Given the description of an element on the screen output the (x, y) to click on. 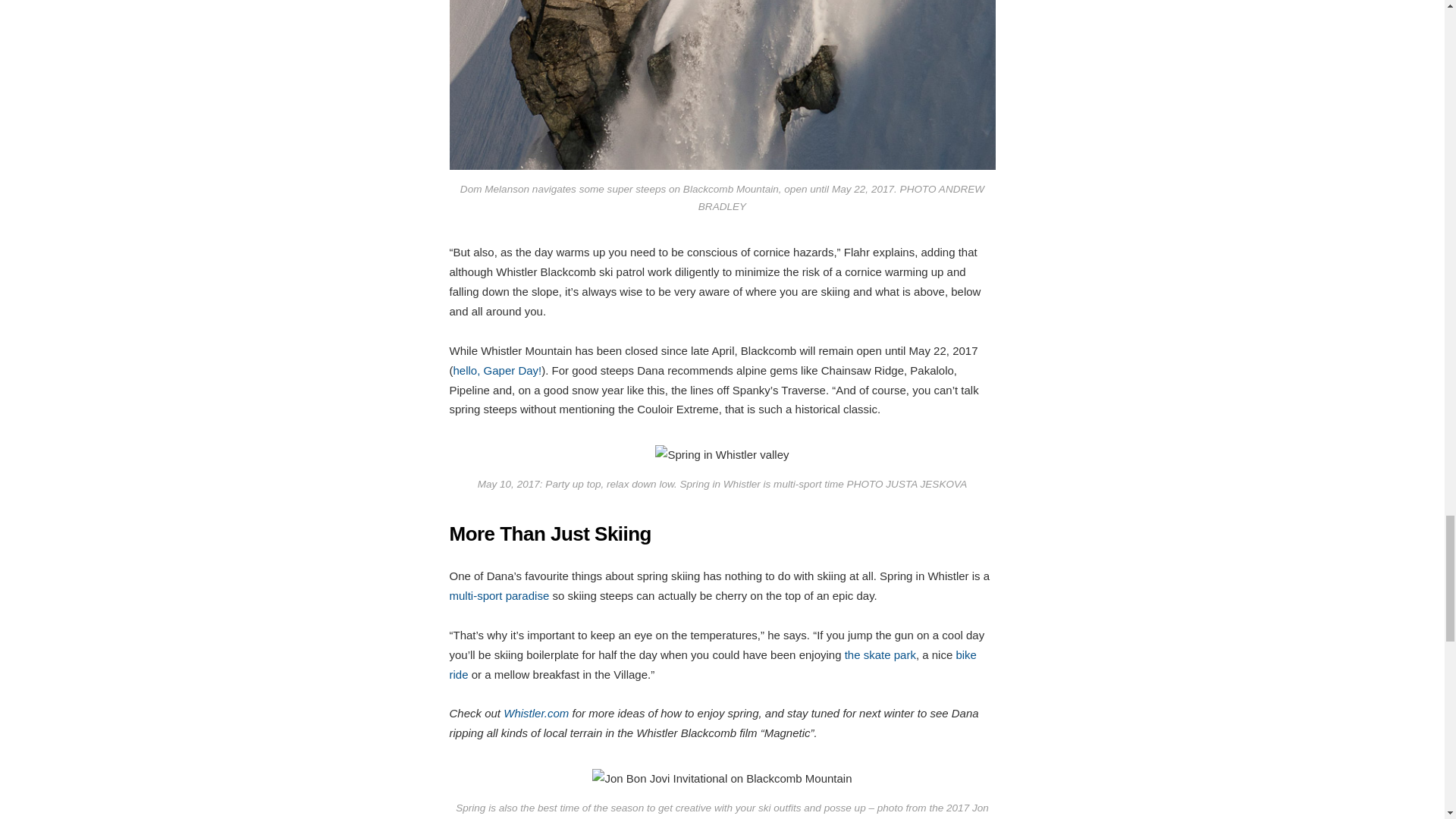
multi-sport paradise (498, 594)
hello, Gaper Day! (496, 369)
bike ride (711, 664)
the skate park (879, 654)
Whistler.com (536, 712)
